Given the description of an element on the screen output the (x, y) to click on. 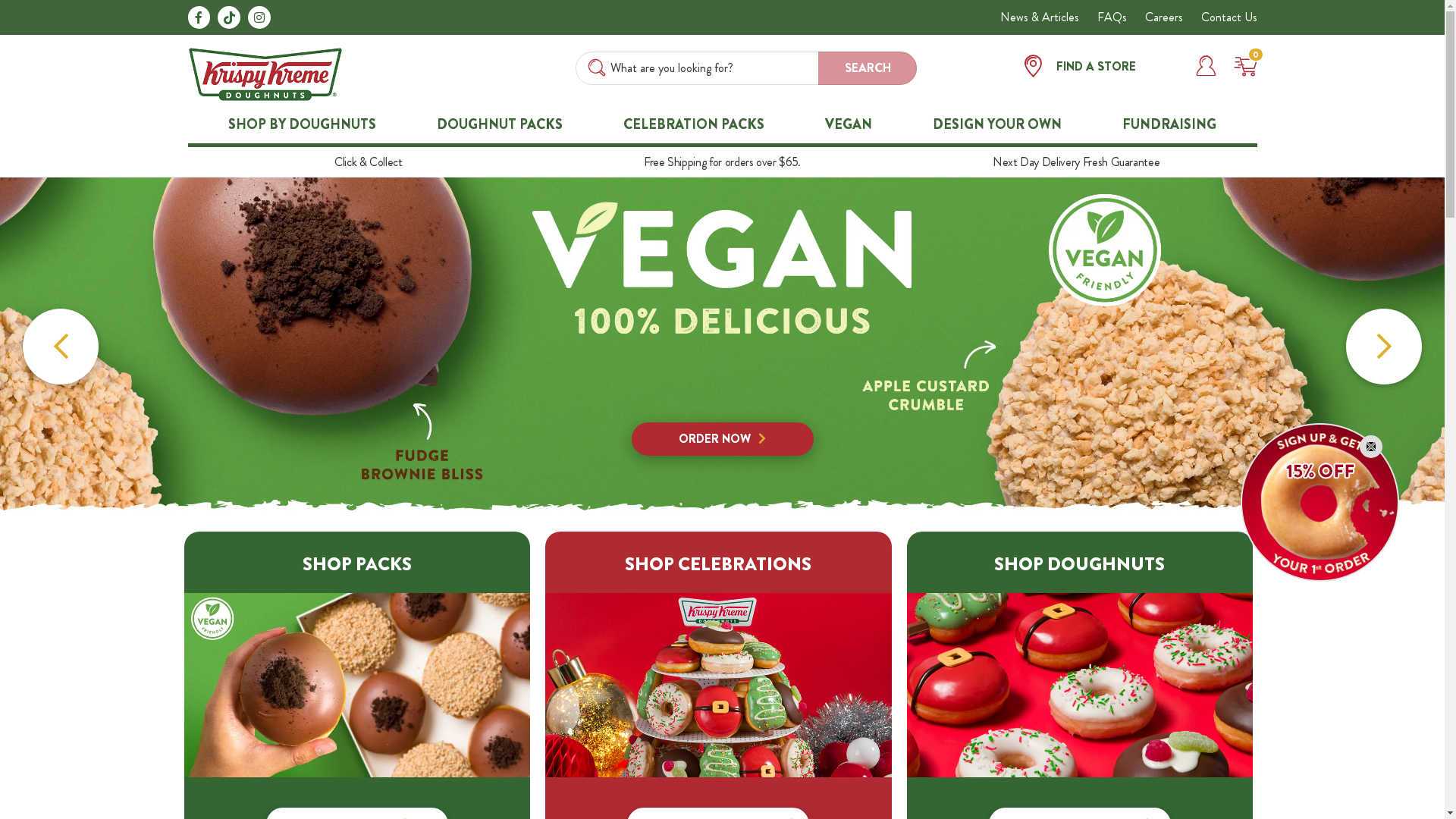
SEARCH Element type: text (867, 67)
SHOP BY DOUGHNUTS Element type: text (301, 124)
ORDER NOW Element type: text (722, 344)
FUNDRAISING Element type: text (1169, 124)
News & Articles Element type: text (1038, 17)
Careers Element type: text (1164, 17)
CELEBRATION PACKS Element type: text (693, 124)
DESIGN YOUR OWN Element type: text (997, 124)
Krispy Kreme Christmas Doughnut Range Element type: hover (1079, 685)
ORDER NOW Element type: text (721, 438)
FAQs Element type: text (1111, 17)
Krispy Kreme Christmas Doughnut Range Element type: hover (1079, 682)
Free Shipping for orders over $65. Element type: text (721, 161)
DOUGHNUT PACKS Element type: text (499, 124)
FIND A STORE Element type: text (1102, 67)
VEGAN Element type: text (848, 124)
Sign In Element type: text (1206, 65)
Krispy Kreme Newsletter Sign up Element type: hover (1319, 499)
Krispy Kreme Newsletter Sign up Element type: hover (1319, 501)
Krispy Kreme logo Element type: hover (265, 74)
PREVIOUS Element type: text (60, 346)
My Bag
0 Element type: text (1239, 65)
Next Day Delivery Fresh Guarantee Element type: text (1075, 161)
Click & Collect Element type: text (368, 161)
Krispy Kreme logo Element type: hover (265, 72)
Contact Us Element type: text (1229, 17)
NEXT Element type: text (1383, 346)
